Given the description of an element on the screen output the (x, y) to click on. 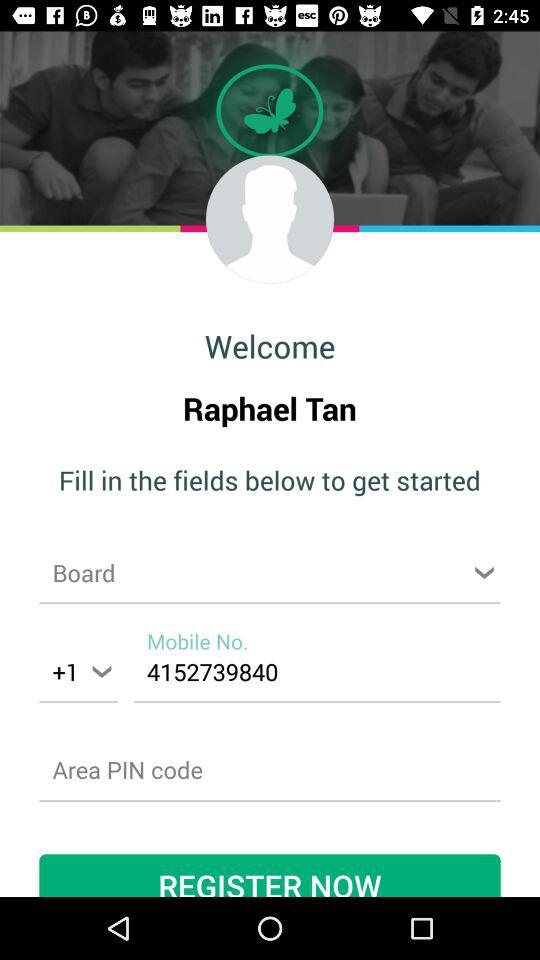
button page (269, 572)
